Given the description of an element on the screen output the (x, y) to click on. 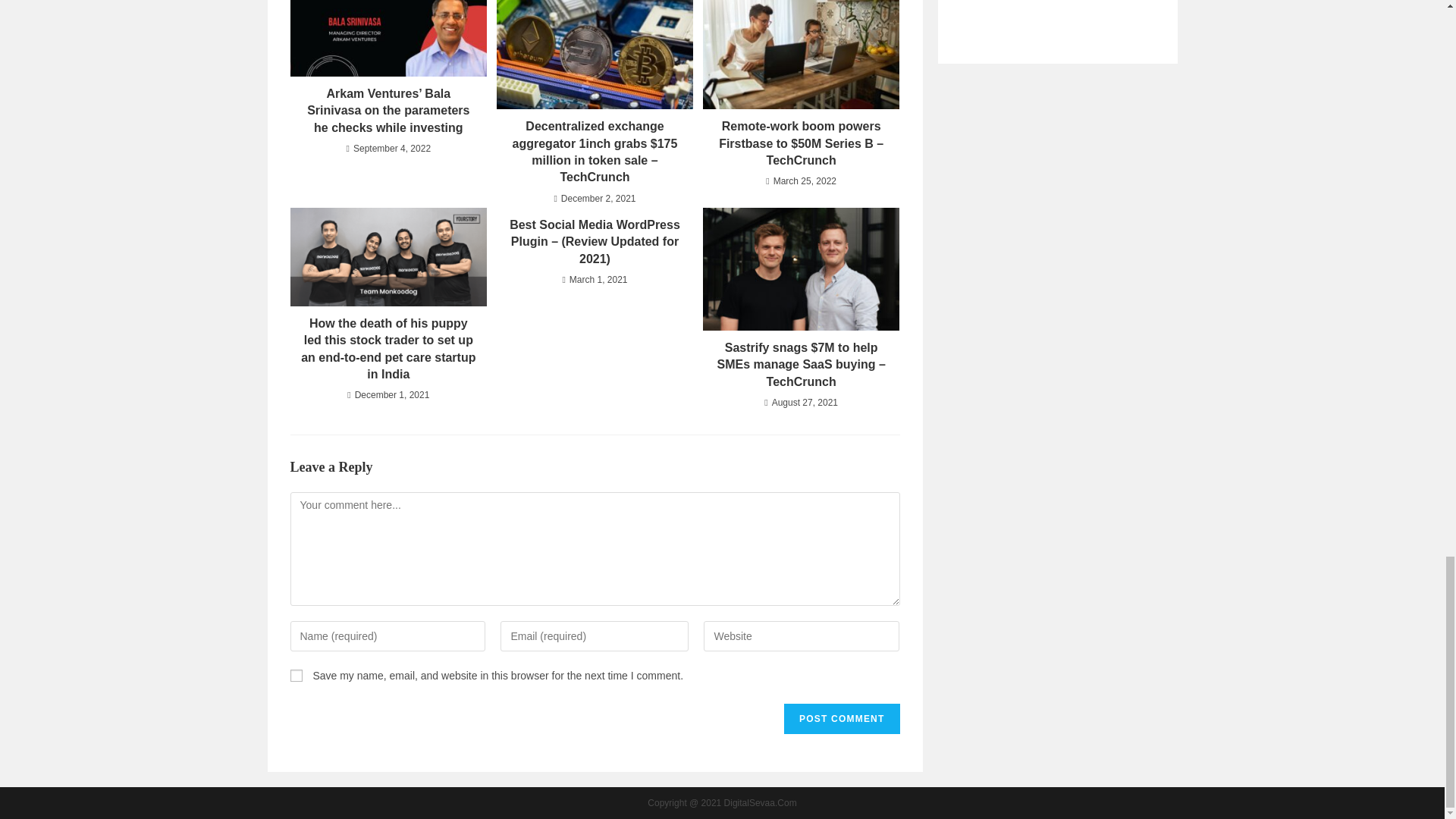
yes (295, 675)
Post Comment (841, 718)
Post Comment (841, 718)
Advertisement (1056, 10)
